Given the description of an element on the screen output the (x, y) to click on. 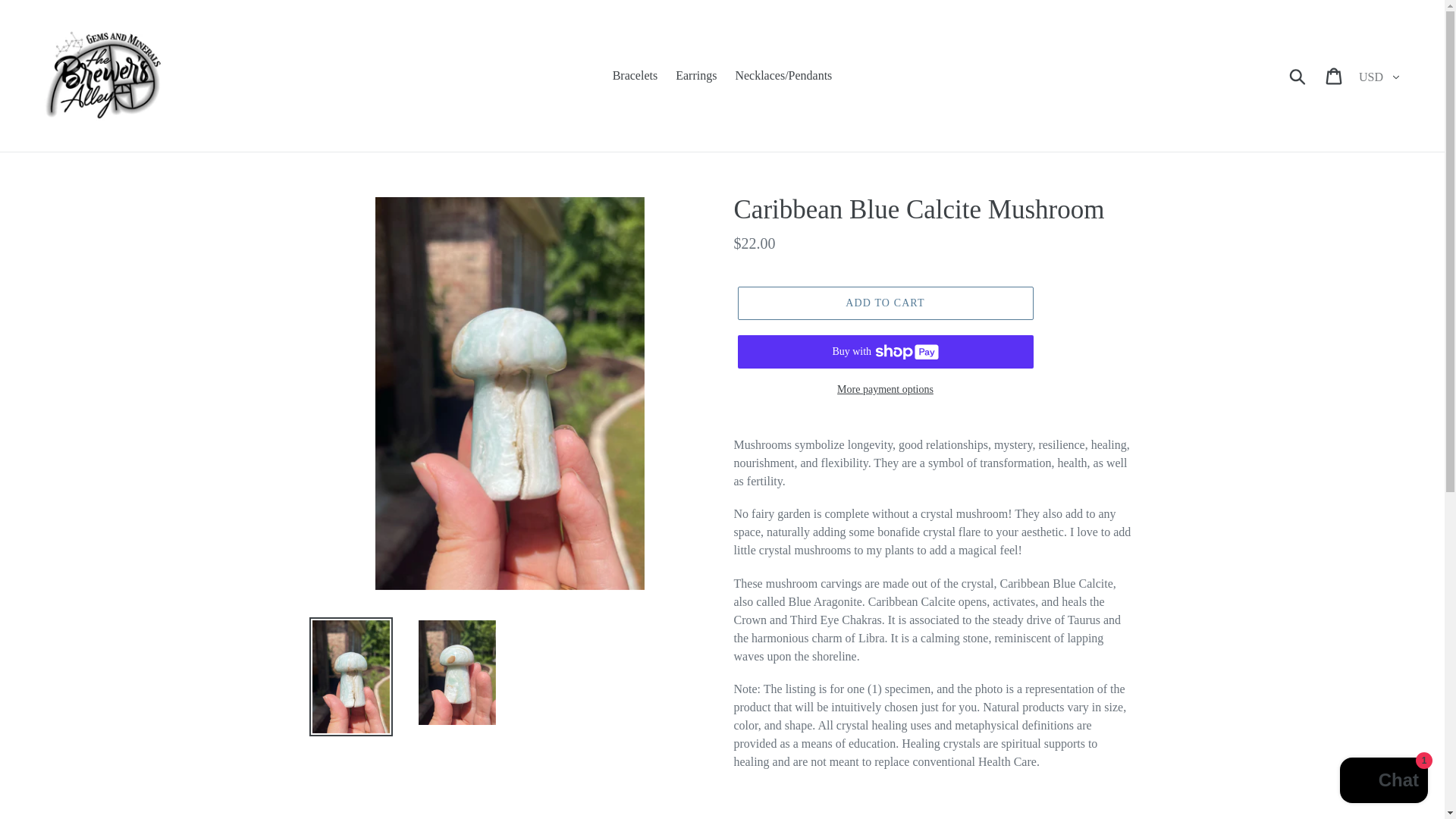
Cart (1334, 75)
ADD TO CART (884, 303)
Earrings (695, 75)
Shopify online store chat (1383, 781)
Bracelets (635, 75)
Submit (1298, 75)
More payment options (884, 389)
